Given the description of an element on the screen output the (x, y) to click on. 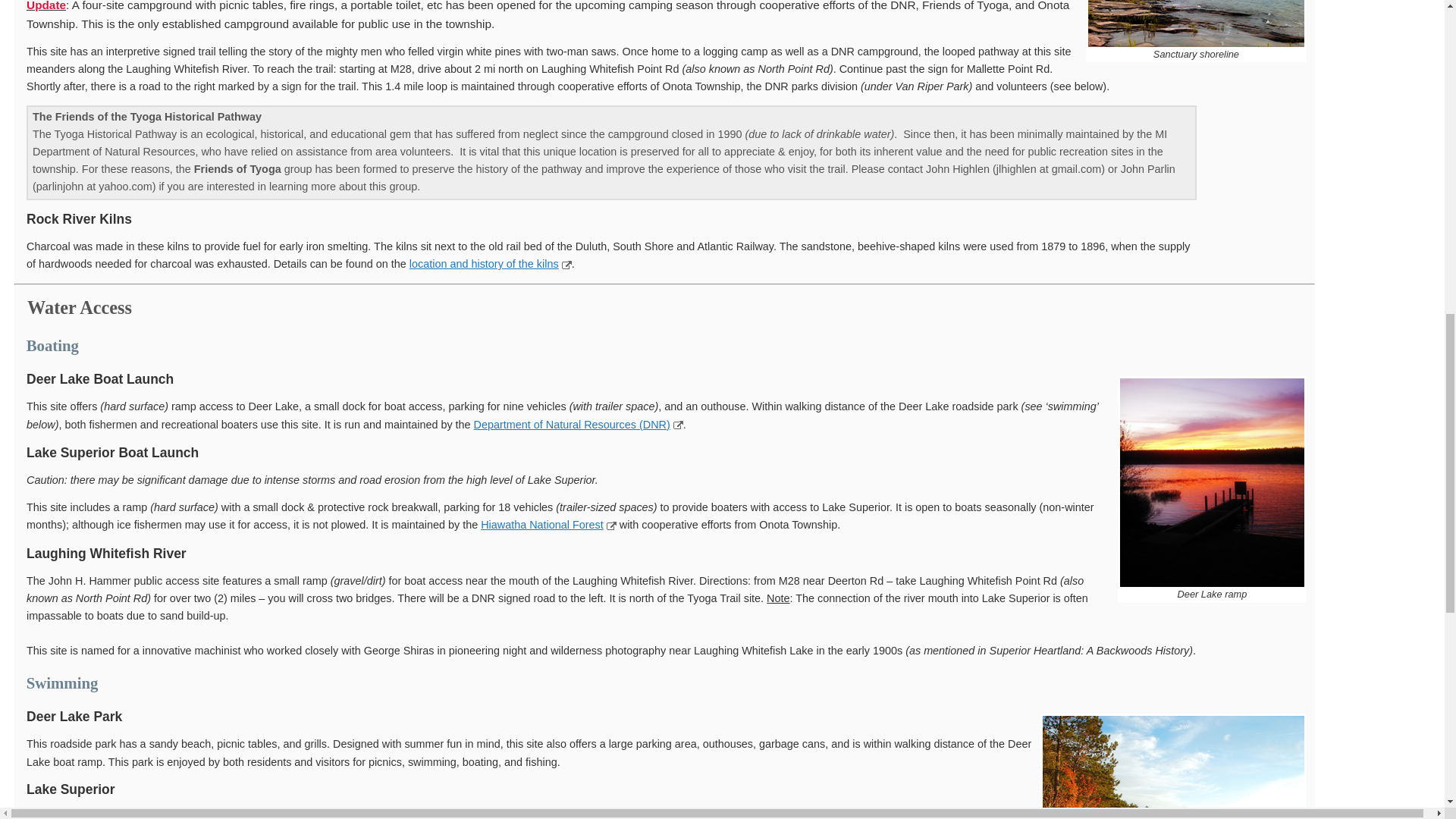
location and history of the kilns (484, 263)
Hiawatha National Forest (542, 524)
